Given the description of an element on the screen output the (x, y) to click on. 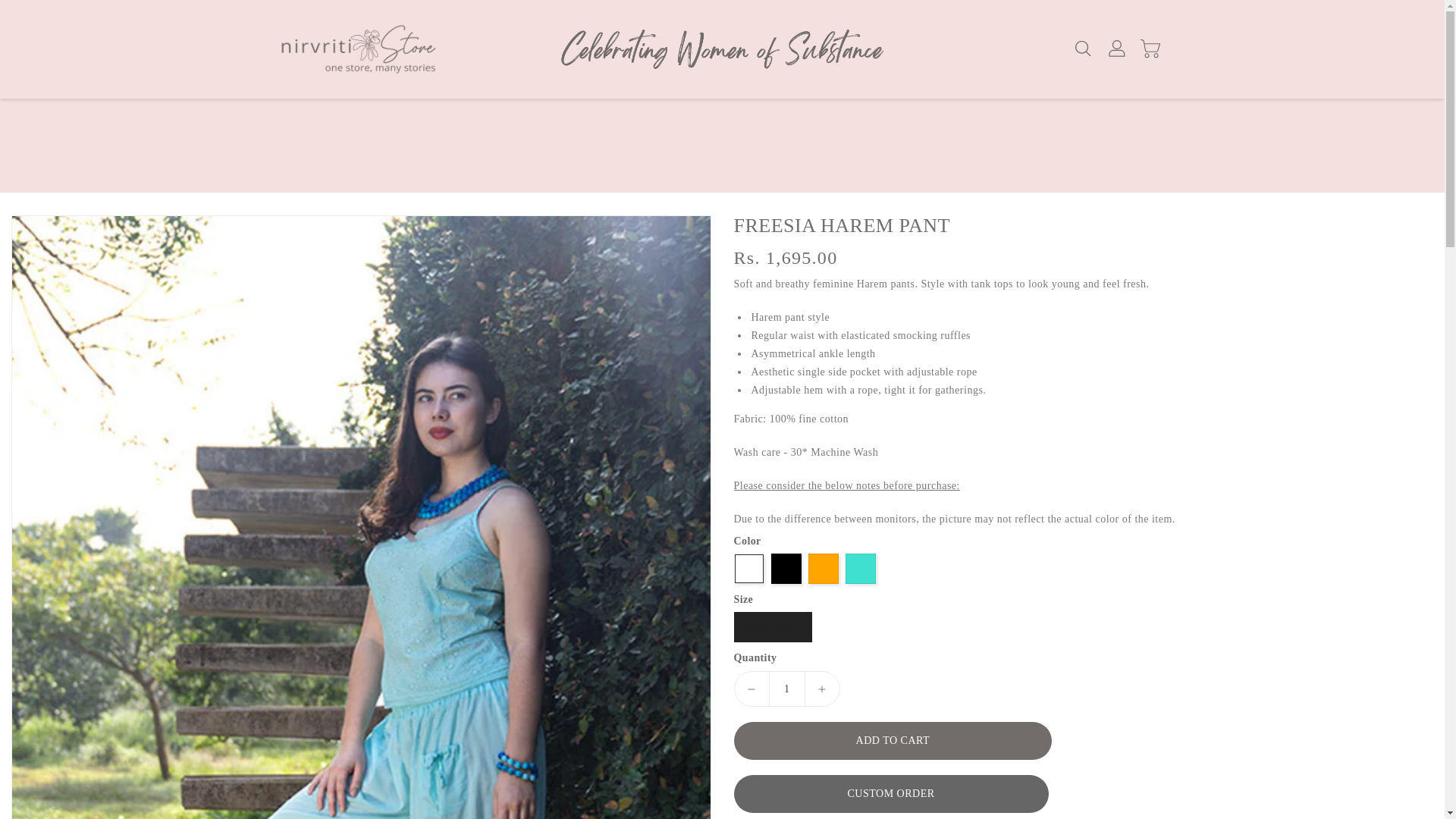
1 (786, 688)
SKIP TO CONTENT (14, 7)
